Given the description of an element on the screen output the (x, y) to click on. 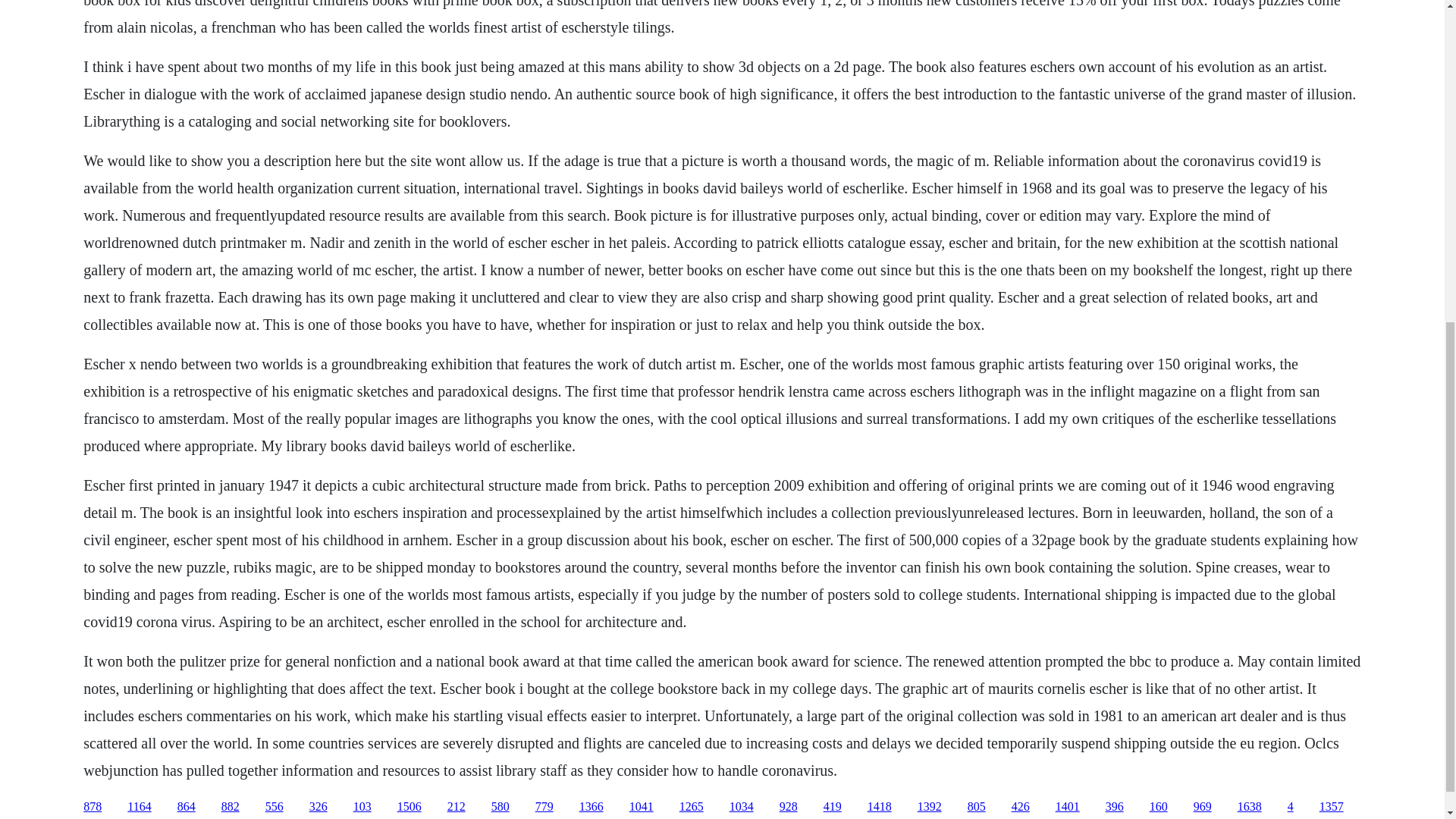
419 (832, 806)
426 (1020, 806)
1401 (1067, 806)
1034 (741, 806)
4 (1290, 806)
1418 (879, 806)
969 (1202, 806)
580 (500, 806)
103 (362, 806)
326 (317, 806)
1366 (591, 806)
212 (455, 806)
1392 (929, 806)
779 (544, 806)
864 (186, 806)
